Given the description of an element on the screen output the (x, y) to click on. 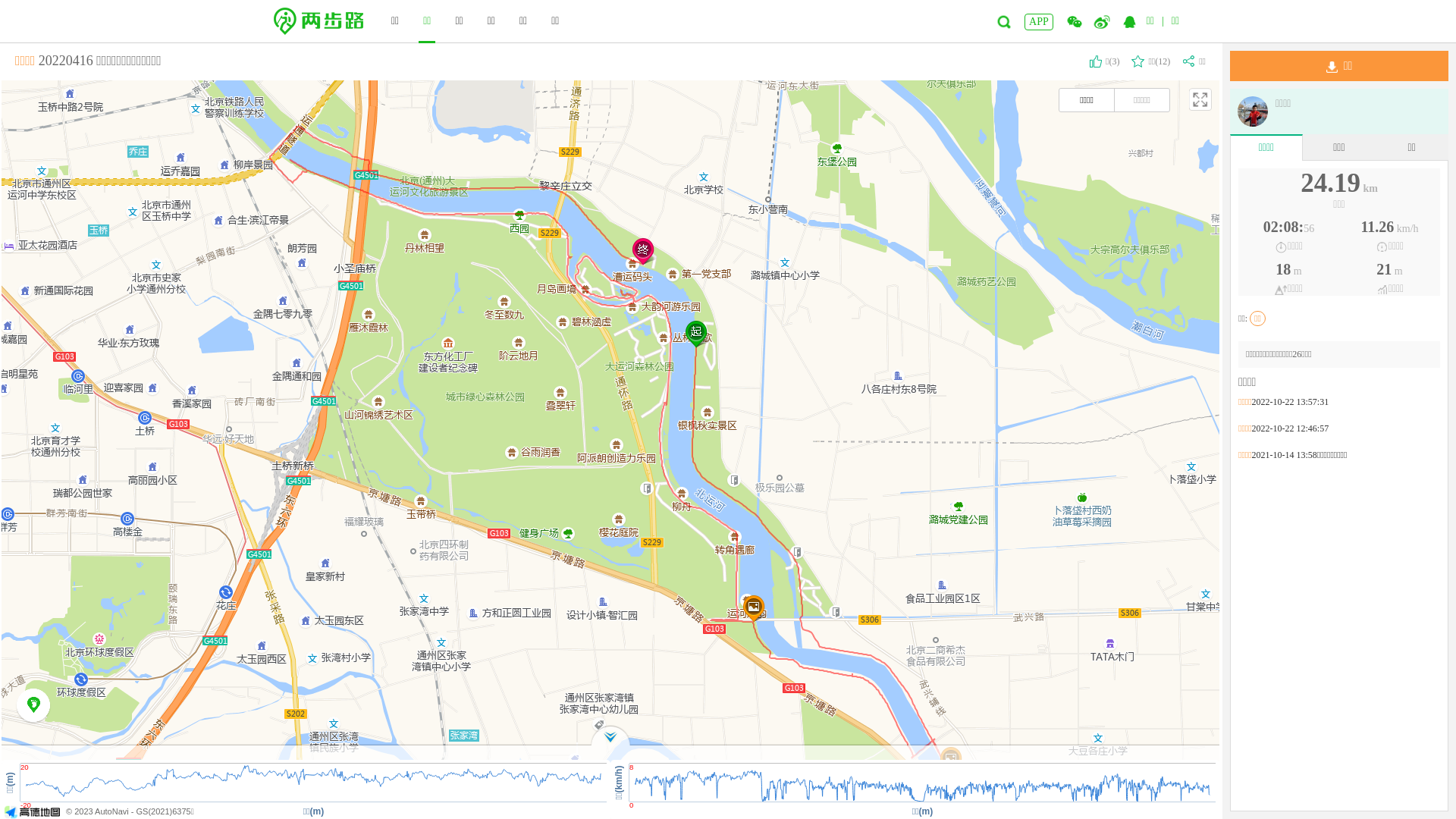
APP Element type: text (1038, 21)
